Given the description of an element on the screen output the (x, y) to click on. 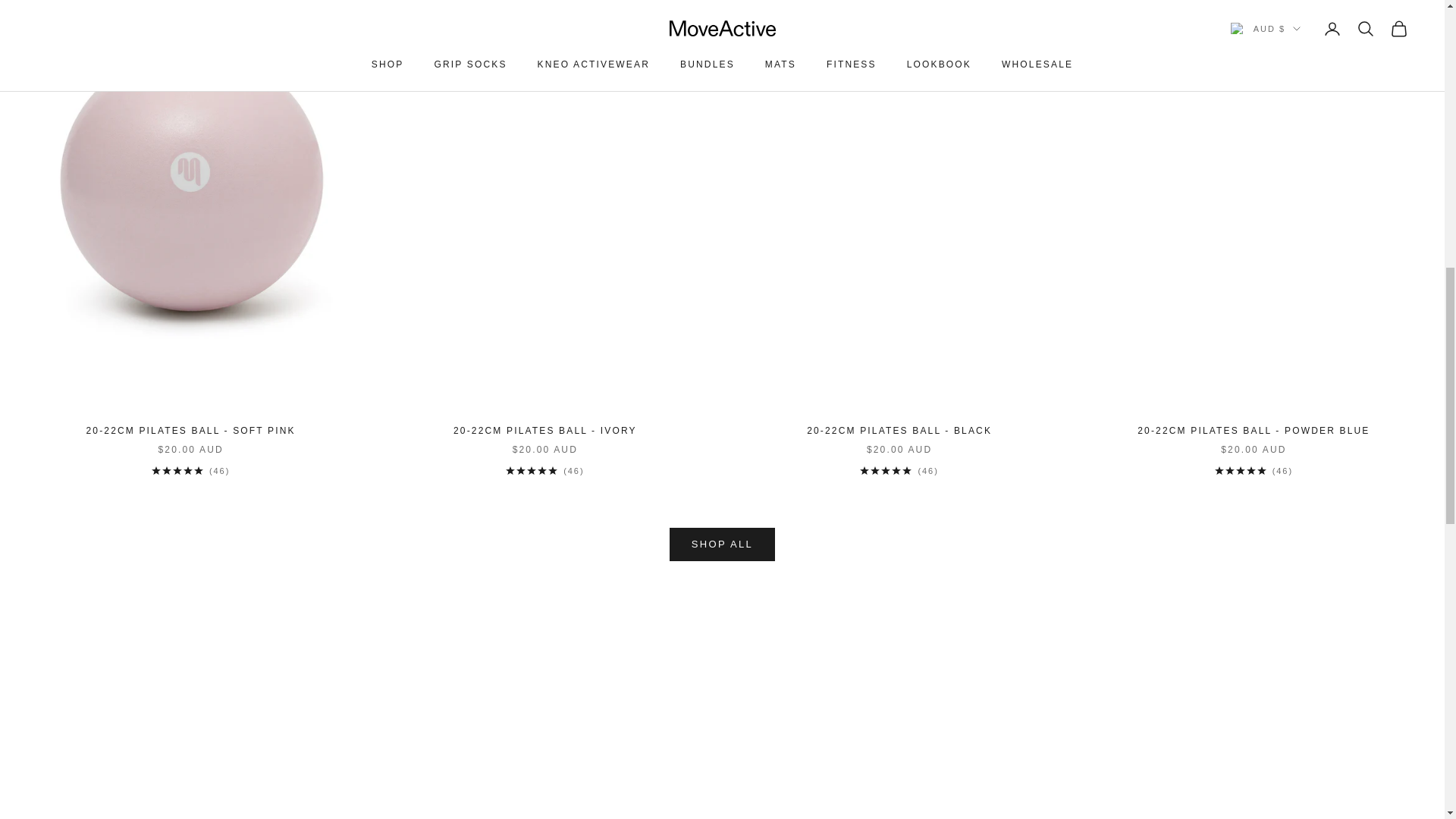
46 reviews (1253, 470)
46 reviews (544, 470)
46 reviews (190, 470)
46 reviews (898, 470)
